Given the description of an element on the screen output the (x, y) to click on. 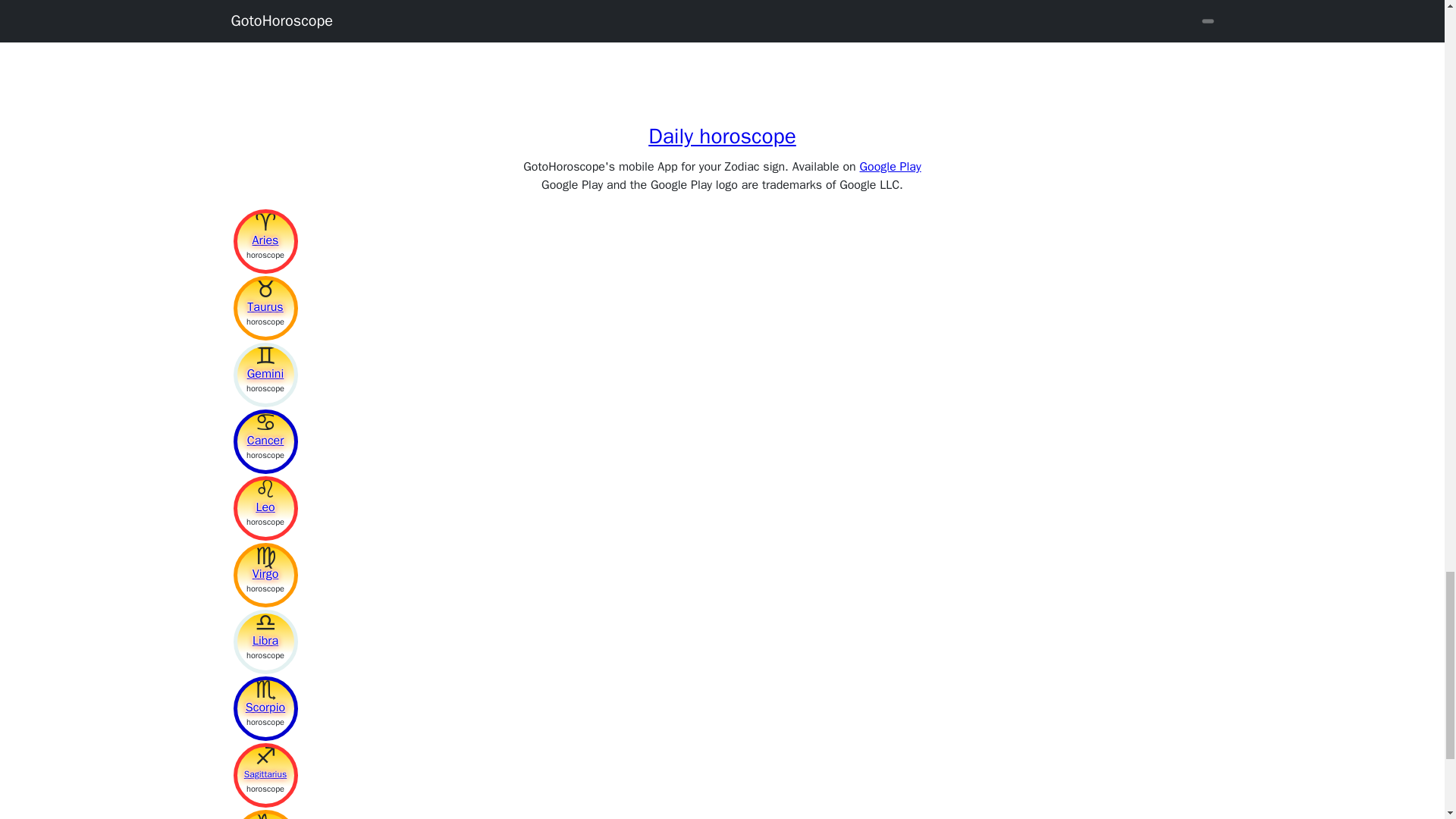
Advertisement (455, 44)
